Given the description of an element on the screen output the (x, y) to click on. 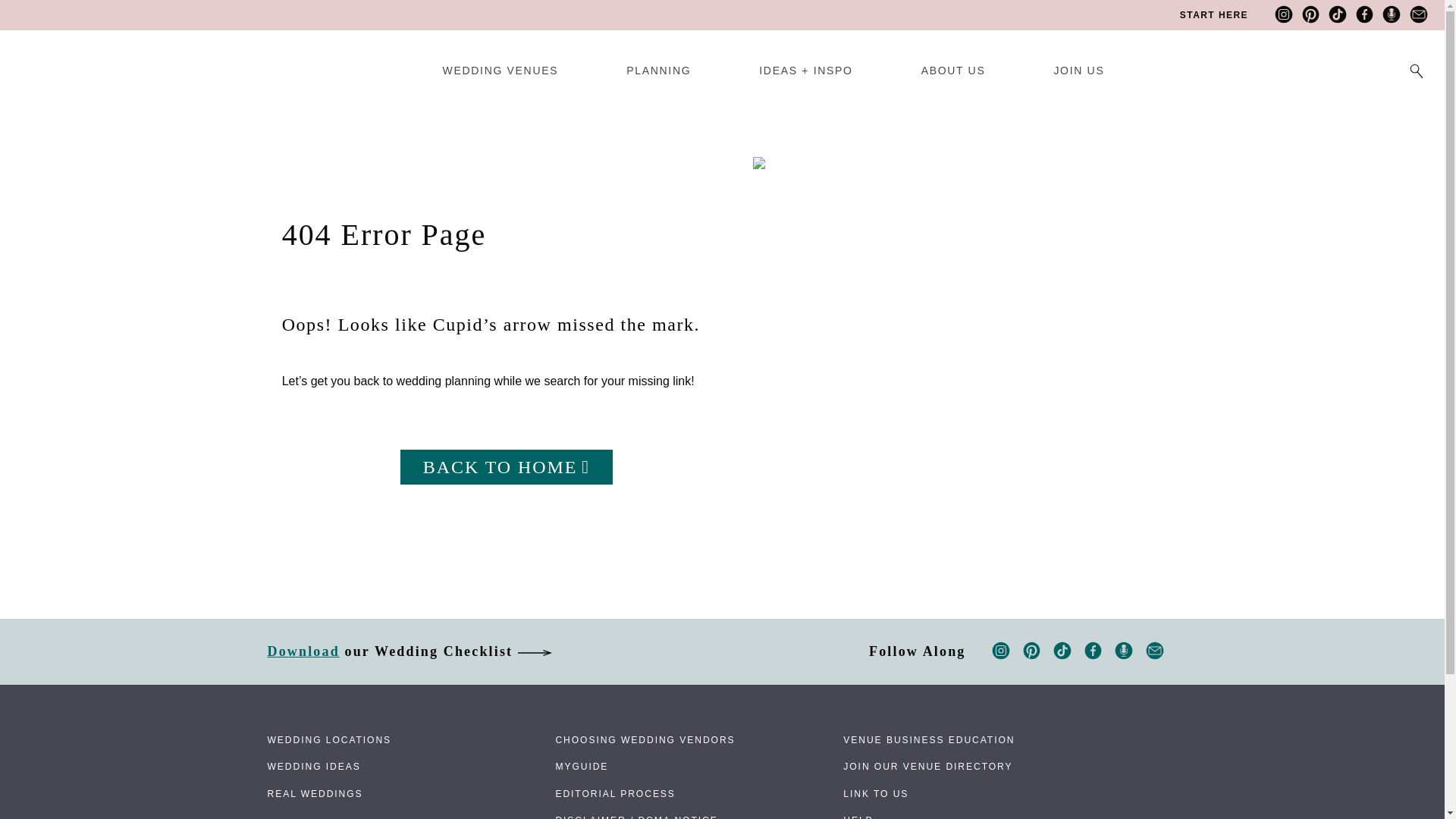
ABOUT US (953, 75)
WEDDING VENUES (500, 75)
JOIN US (1078, 75)
START HERE (1213, 15)
PLANNING (658, 75)
Here Comes the Guide (63, 56)
